Given the description of an element on the screen output the (x, y) to click on. 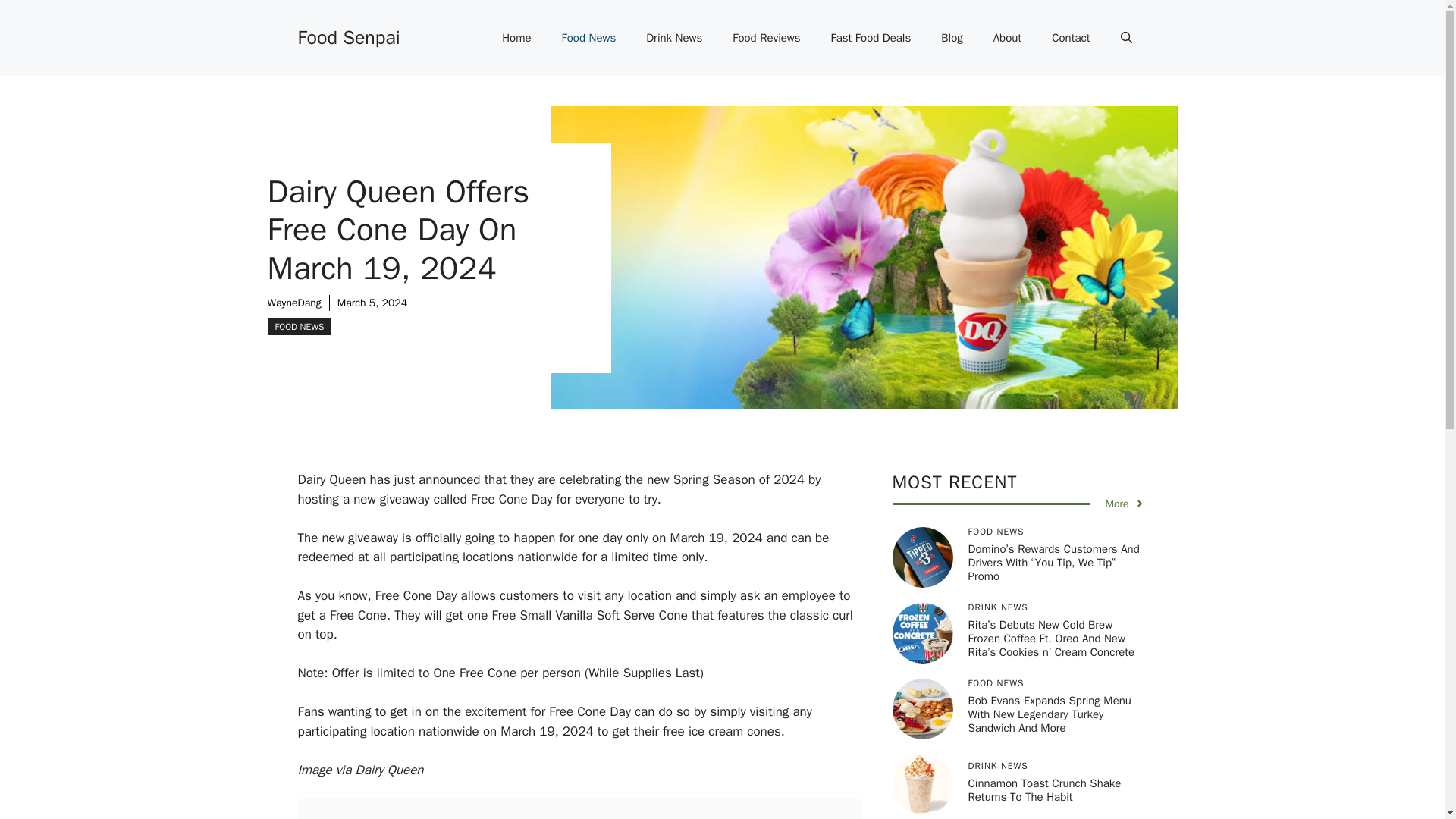
Cinnamon Toast Crunch Shake Returns To The Habit (1044, 789)
About (1007, 37)
Home (516, 37)
Fast Food Deals (870, 37)
FOOD NEWS (298, 326)
Blog (951, 37)
Drink News (673, 37)
Contact (1070, 37)
Food News (589, 37)
